Given the description of an element on the screen output the (x, y) to click on. 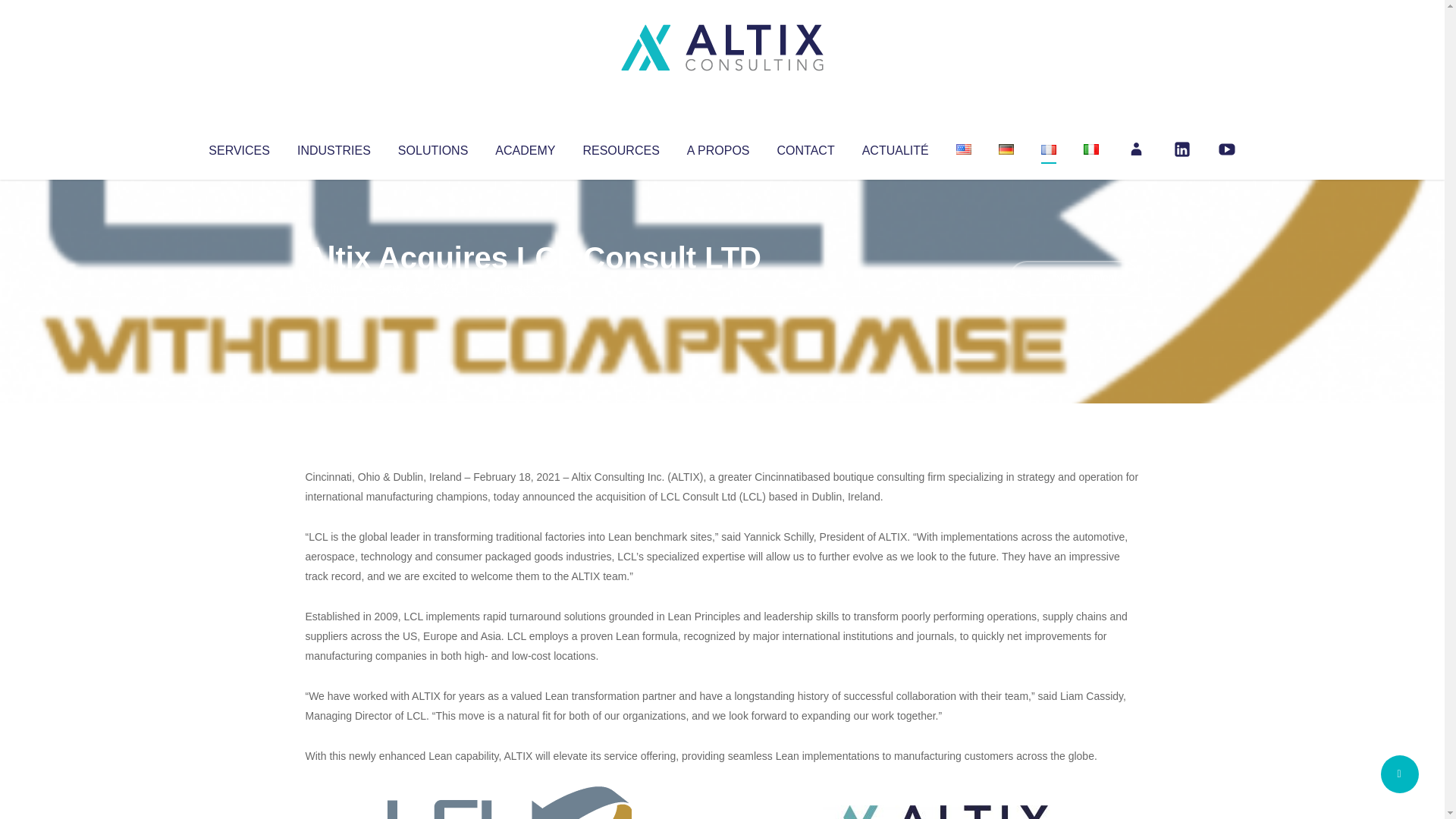
ACADEMY (524, 146)
A PROPOS (718, 146)
No Comments (1073, 278)
INDUSTRIES (334, 146)
RESOURCES (620, 146)
Altix (333, 287)
Uncategorized (530, 287)
Articles par Altix (333, 287)
SERVICES (238, 146)
SOLUTIONS (432, 146)
